Given the description of an element on the screen output the (x, y) to click on. 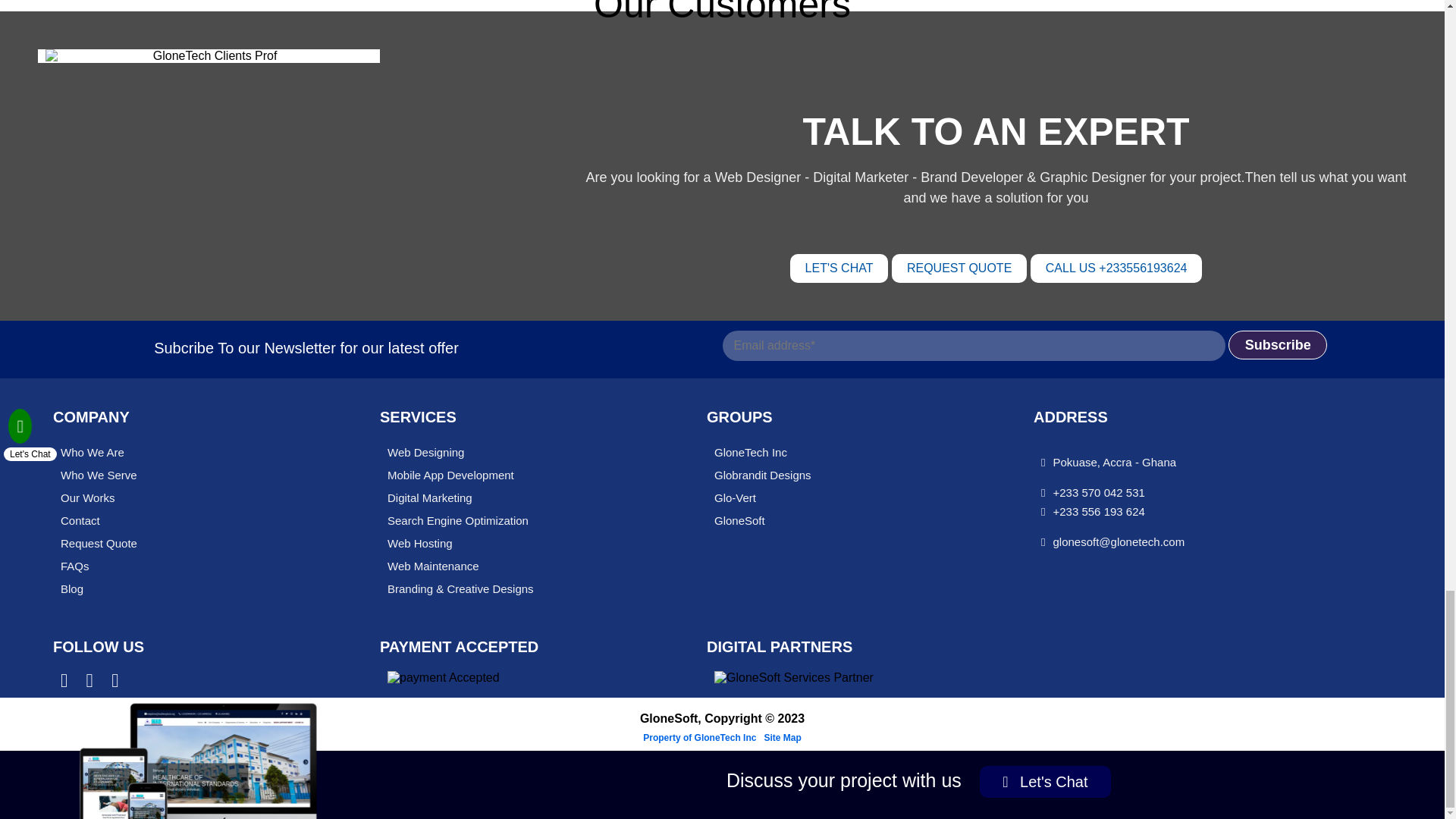
Who We Serve (189, 475)
Request Quote (189, 543)
Who We Are (189, 452)
REQUEST QUOTE (959, 268)
Web Designing (516, 452)
FAQs (189, 566)
LET'S CHAT (839, 268)
Our Works (189, 497)
Blog (189, 589)
Contact (189, 520)
